Given the description of an element on the screen output the (x, y) to click on. 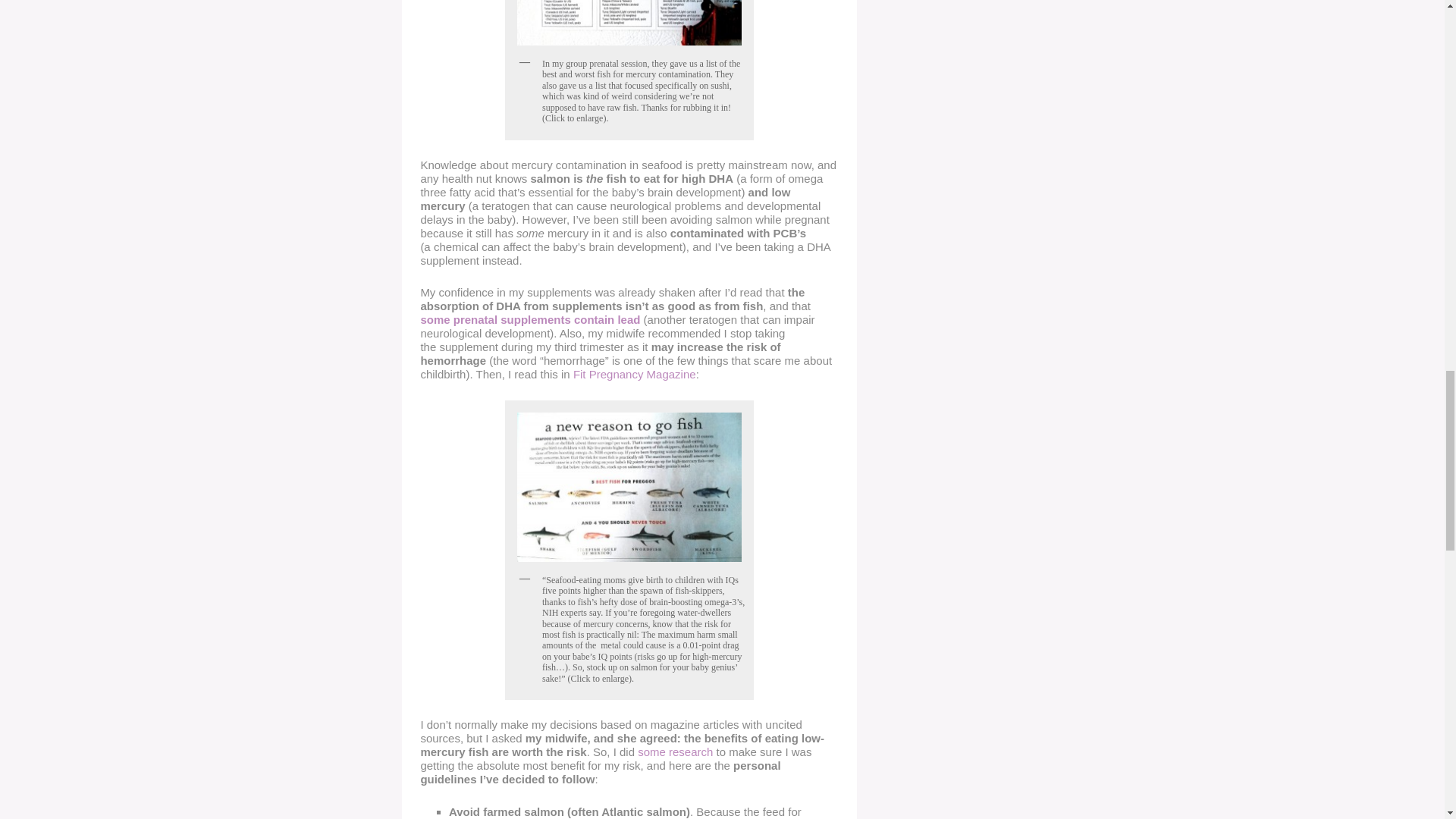
Another article from Fit Pregnancy about fish (634, 373)
3 Weeks Pregnant: Pre-Conception Nutrition (530, 318)
Fit Pregnancy Magazine (634, 373)
Alaskan Salmon (675, 751)
some research (675, 751)
some prenatal supplements contain lead (530, 318)
